Given the description of an element on the screen output the (x, y) to click on. 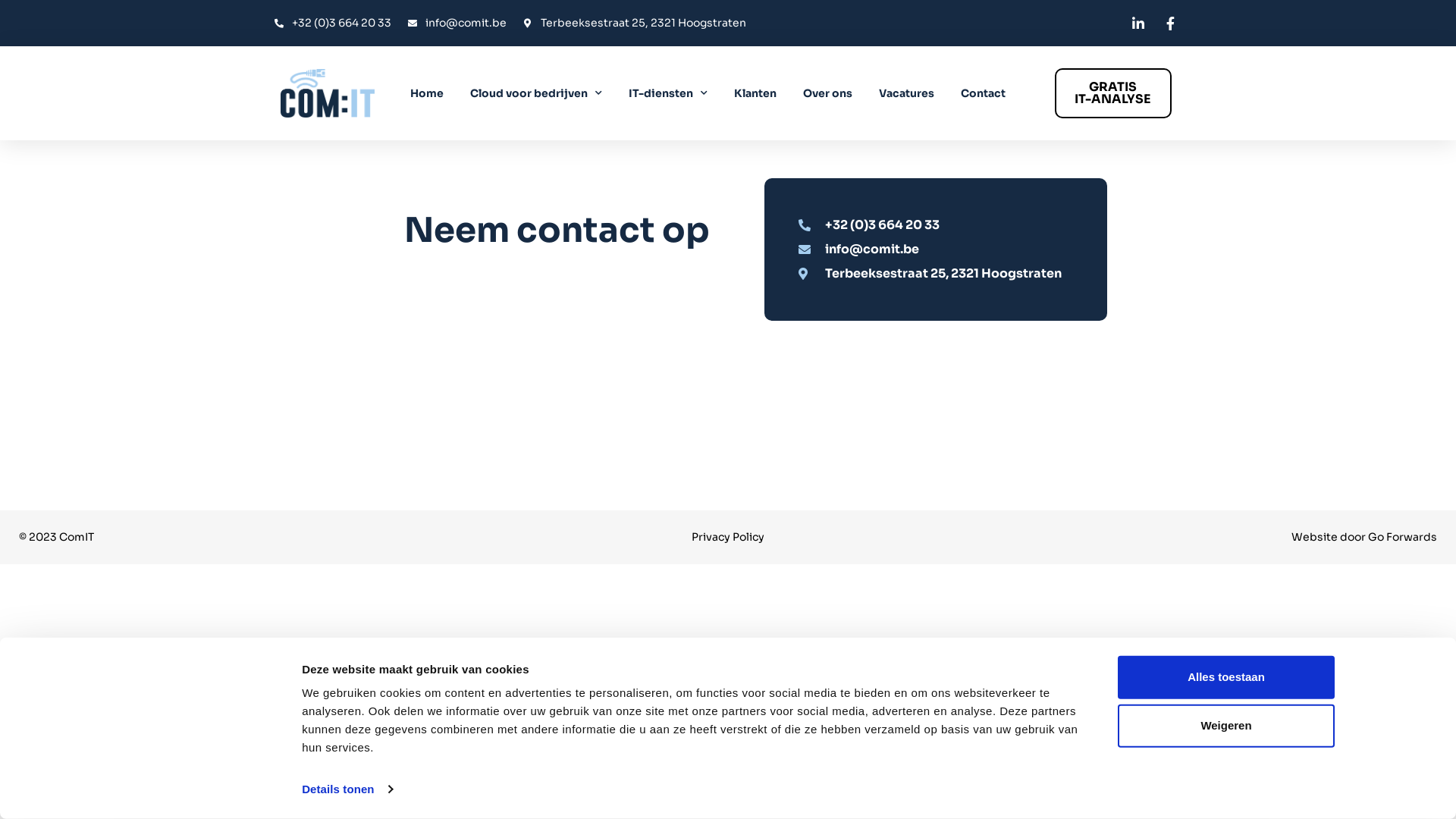
Details tonen Element type: text (346, 789)
Vacatures Element type: text (906, 92)
+32 (0)3 664 20 33 Element type: text (332, 23)
Terbeeksestraat 25, 2321 Hoogstraten Element type: text (633, 23)
info@comit.be Element type: text (943, 248)
Alles toestaan Element type: text (1225, 677)
Home Element type: text (426, 92)
Website door Go Forwards Element type: text (1364, 535)
Contact Element type: text (982, 92)
Weigeren Element type: text (1225, 725)
Cloud voor bedrijven Element type: text (535, 92)
info@comit.be Element type: text (456, 23)
Klanten Element type: text (754, 92)
Terbeeksestraat 25, 2321 Hoogstraten Element type: text (943, 272)
Over ons Element type: text (827, 92)
IT-diensten Element type: text (667, 92)
GRATIS
IT-ANALYSE Element type: text (1112, 93)
+32 (0)3 664 20 33 Element type: text (943, 224)
Privacy Policy Element type: text (727, 535)
